Given the description of an element on the screen output the (x, y) to click on. 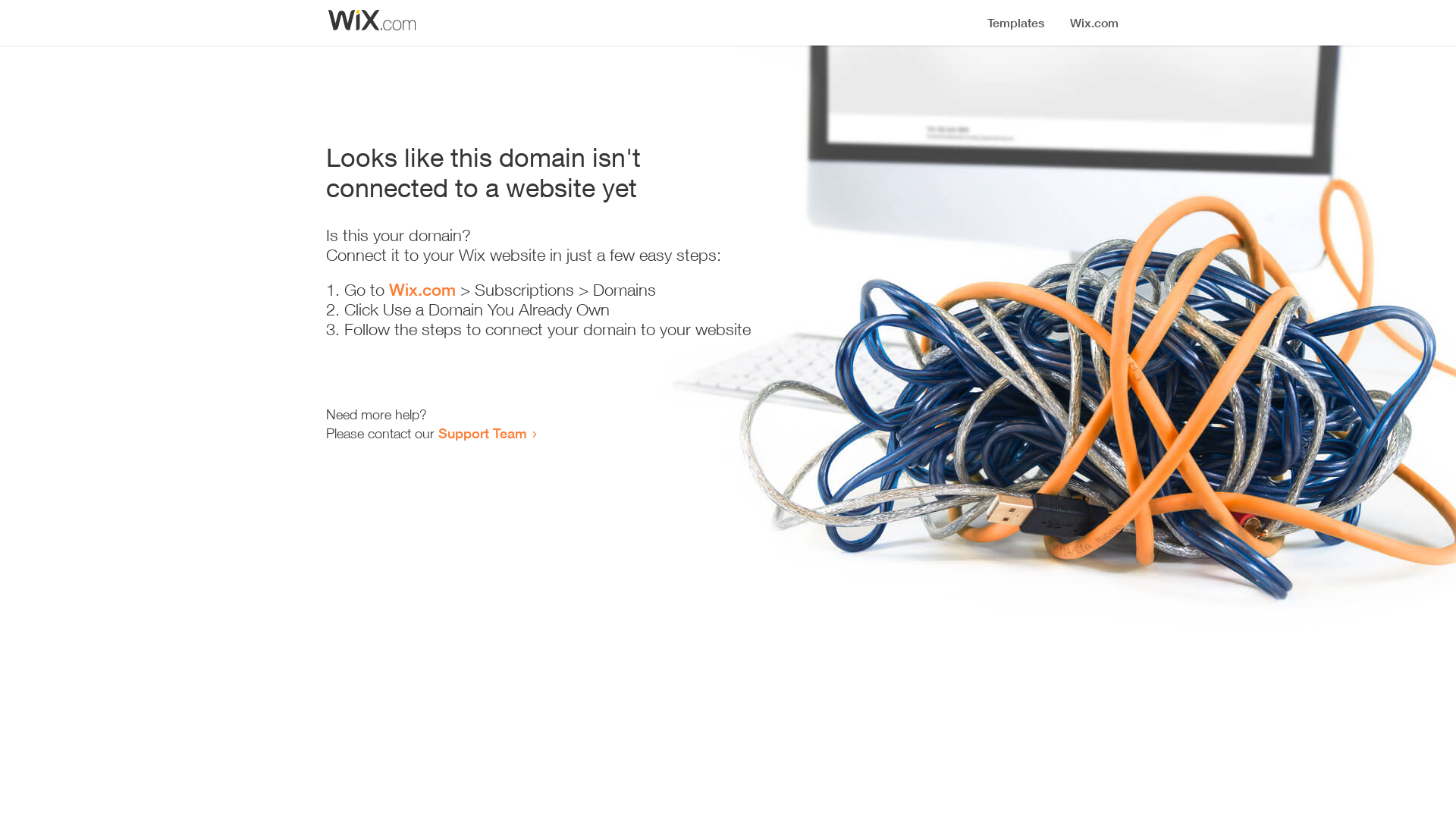
Support Team Element type: text (482, 432)
Wix.com Element type: text (422, 289)
